Given the description of an element on the screen output the (x, y) to click on. 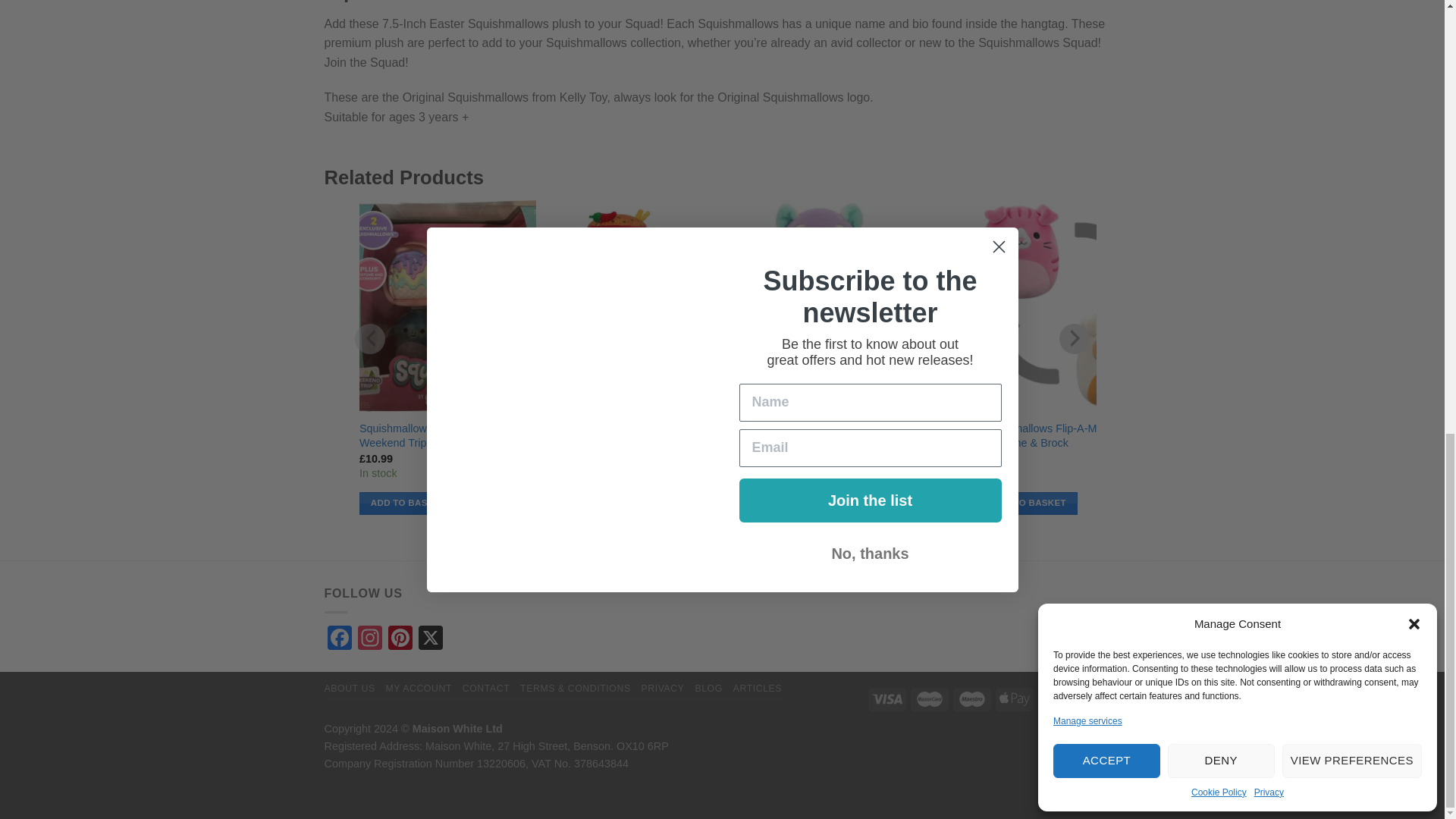
Minimum qty is 1 (408, 503)
